Given the description of an element on the screen output the (x, y) to click on. 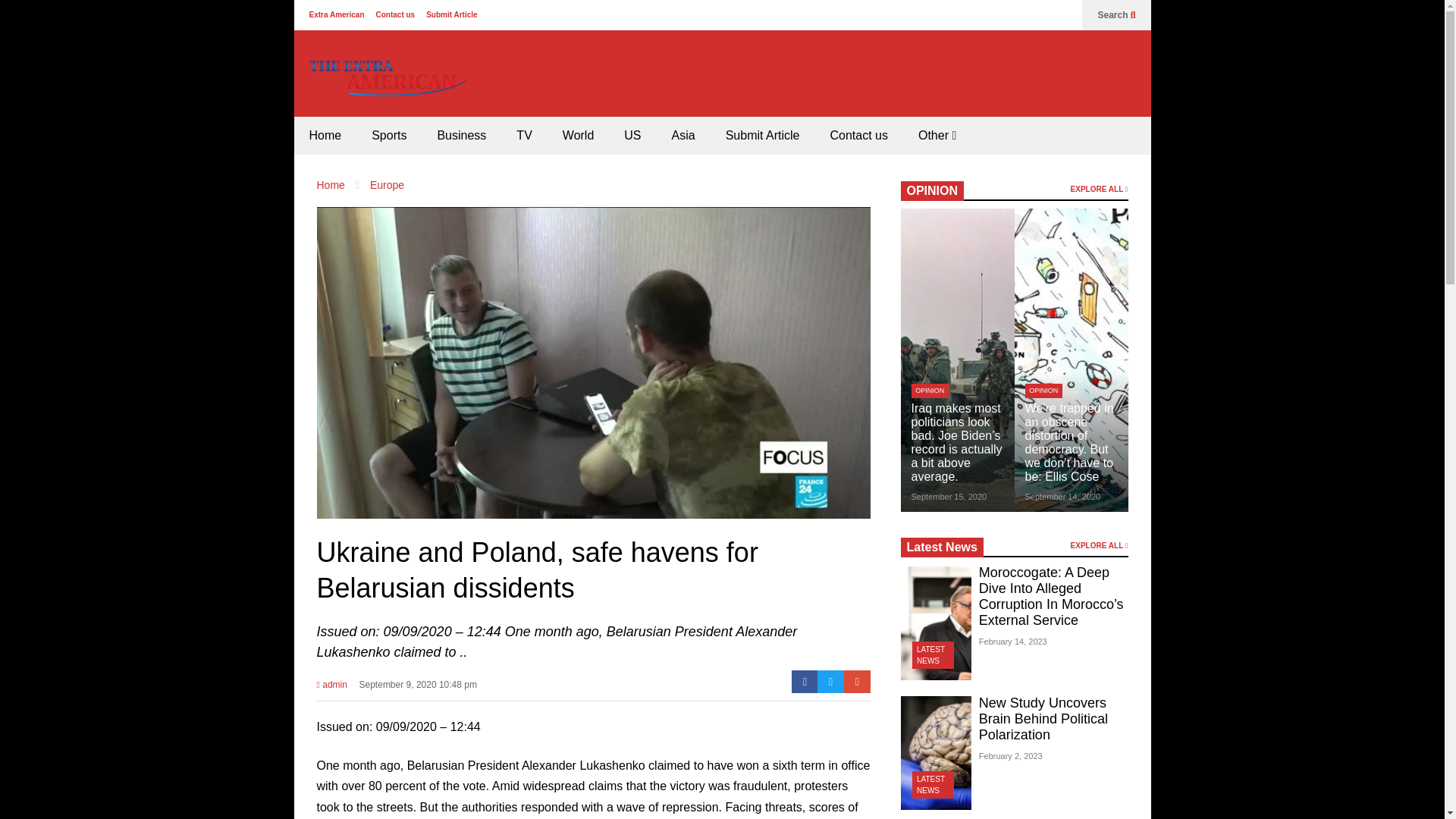
Facebook (805, 681)
TV (523, 135)
Submit Article (451, 14)
Google-plus (857, 681)
Extra American (336, 14)
US (632, 135)
Home (325, 135)
Twitter (830, 681)
Business (461, 135)
World (578, 135)
Home (331, 184)
Europe (386, 184)
admin (332, 689)
Contact us (394, 14)
